Given the description of an element on the screen output the (x, y) to click on. 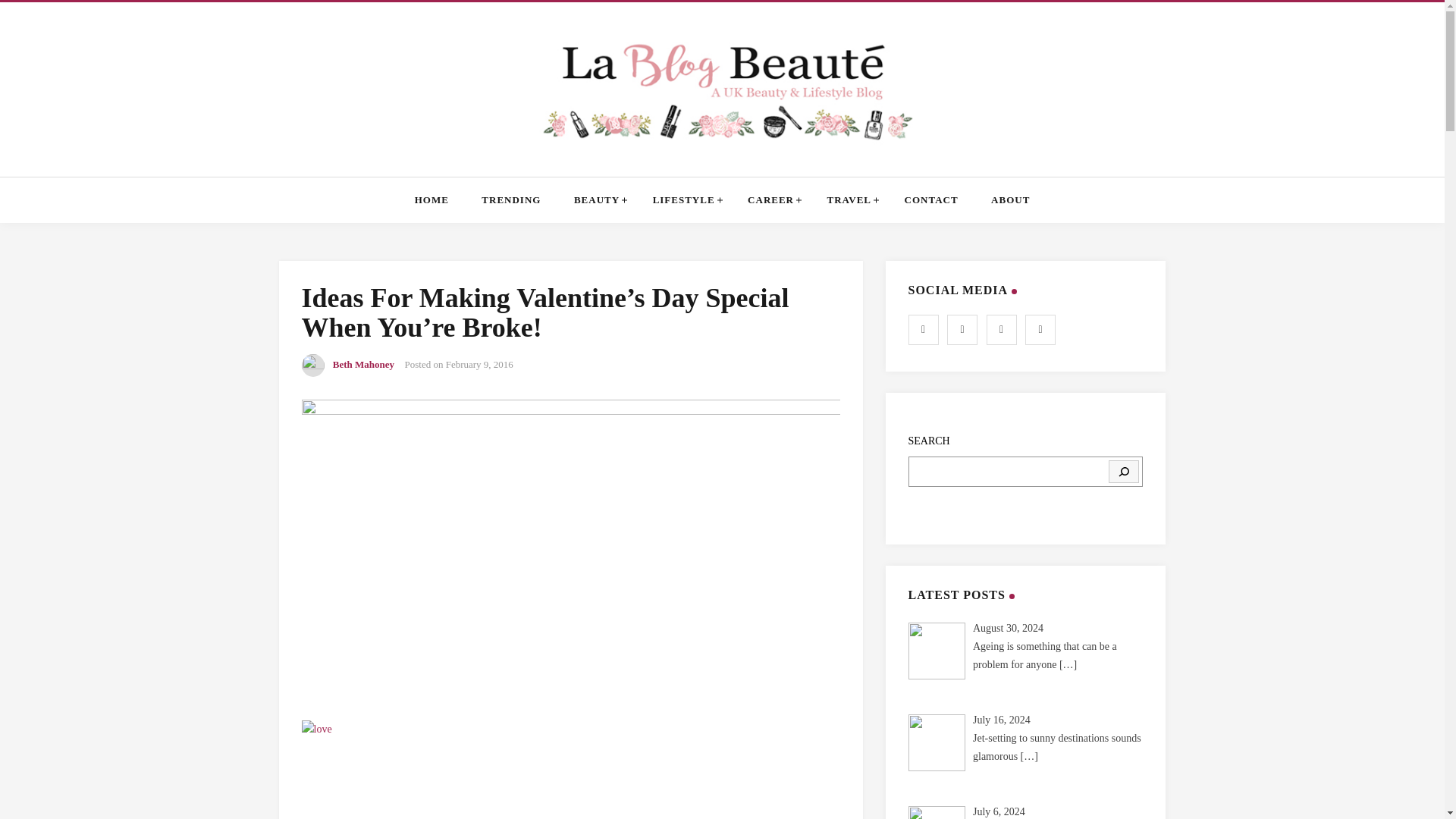
LIFESTYLE (683, 199)
February 9, 2016 (479, 364)
Beauty (596, 199)
Trending (510, 199)
TRAVEL (849, 199)
BEAUTY (596, 199)
TRENDING (510, 199)
Beth Mahoney (363, 364)
Lifestyle (683, 199)
CONTACT (931, 199)
